Given the description of an element on the screen output the (x, y) to click on. 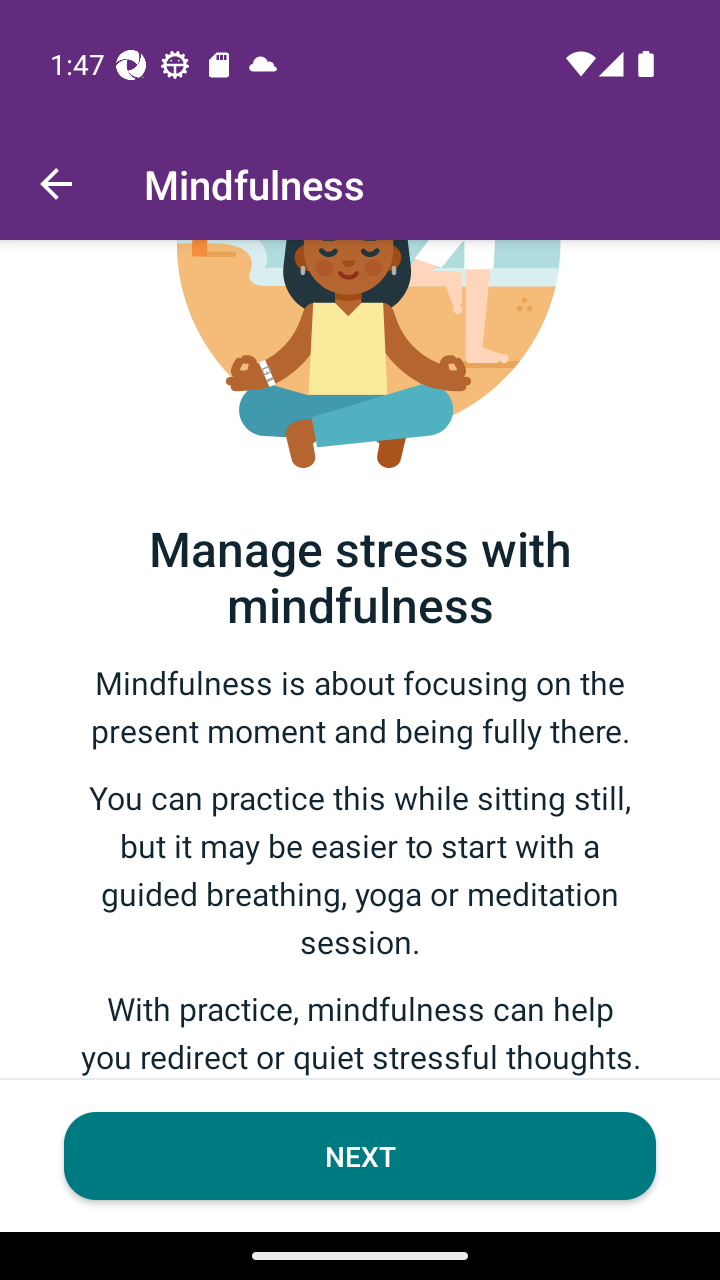
Navigate up (56, 184)
NEXT (359, 1156)
